Given the description of an element on the screen output the (x, y) to click on. 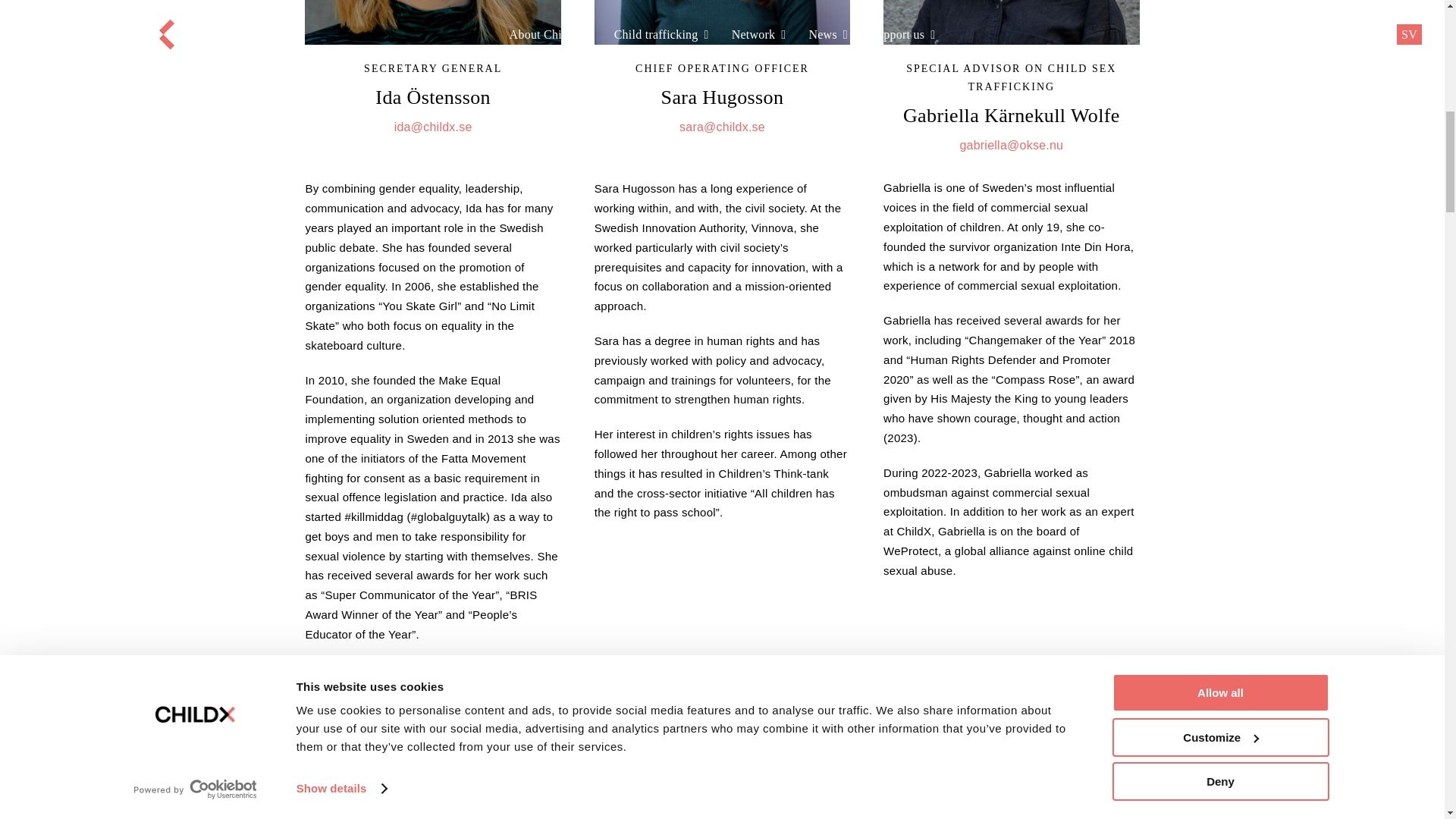
Faryal press - ChildX (722, 758)
Gabriella press - ChildX (1010, 22)
